Given the description of an element on the screen output the (x, y) to click on. 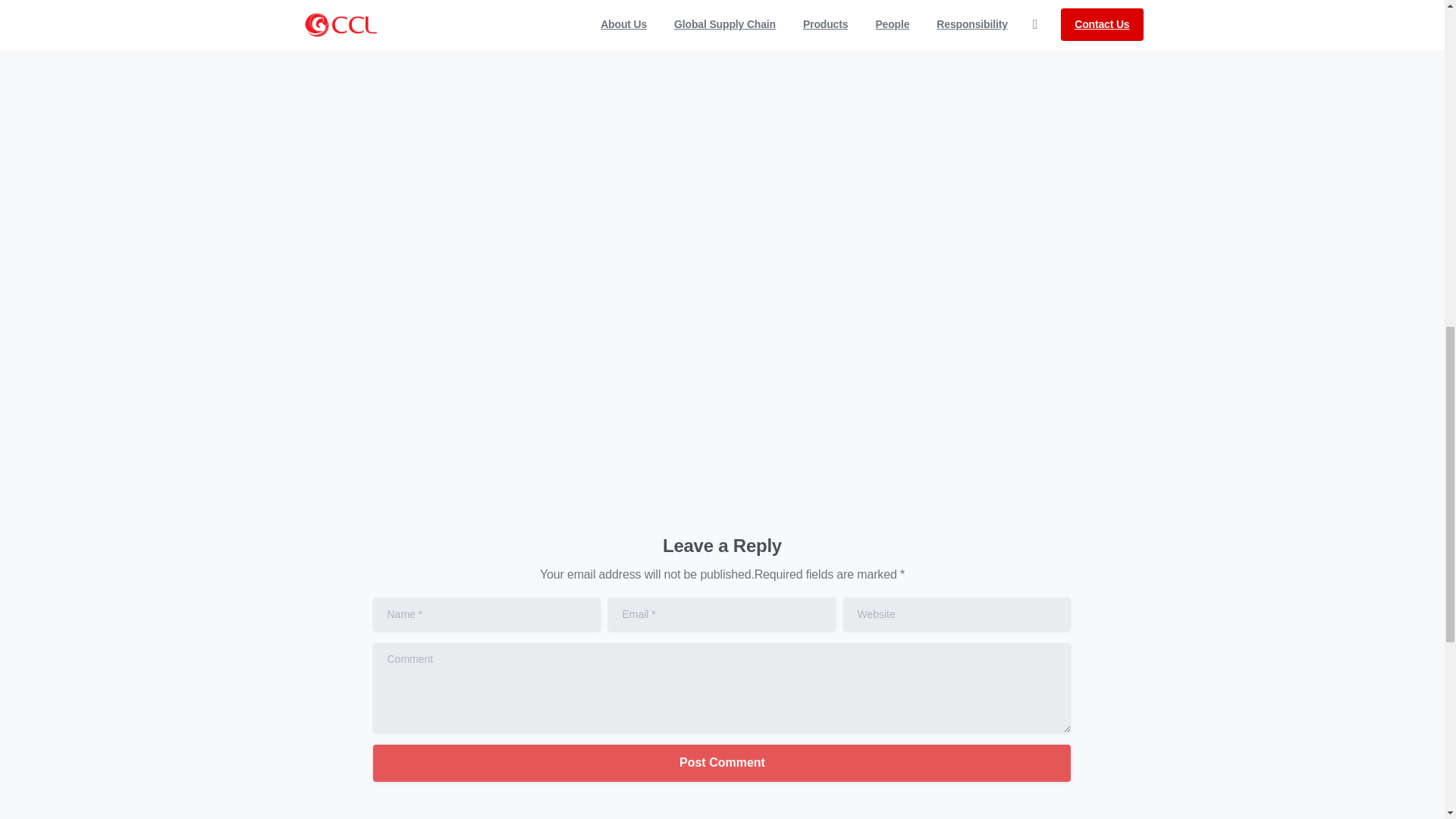
Post Comment (721, 763)
